Given the description of an element on the screen output the (x, y) to click on. 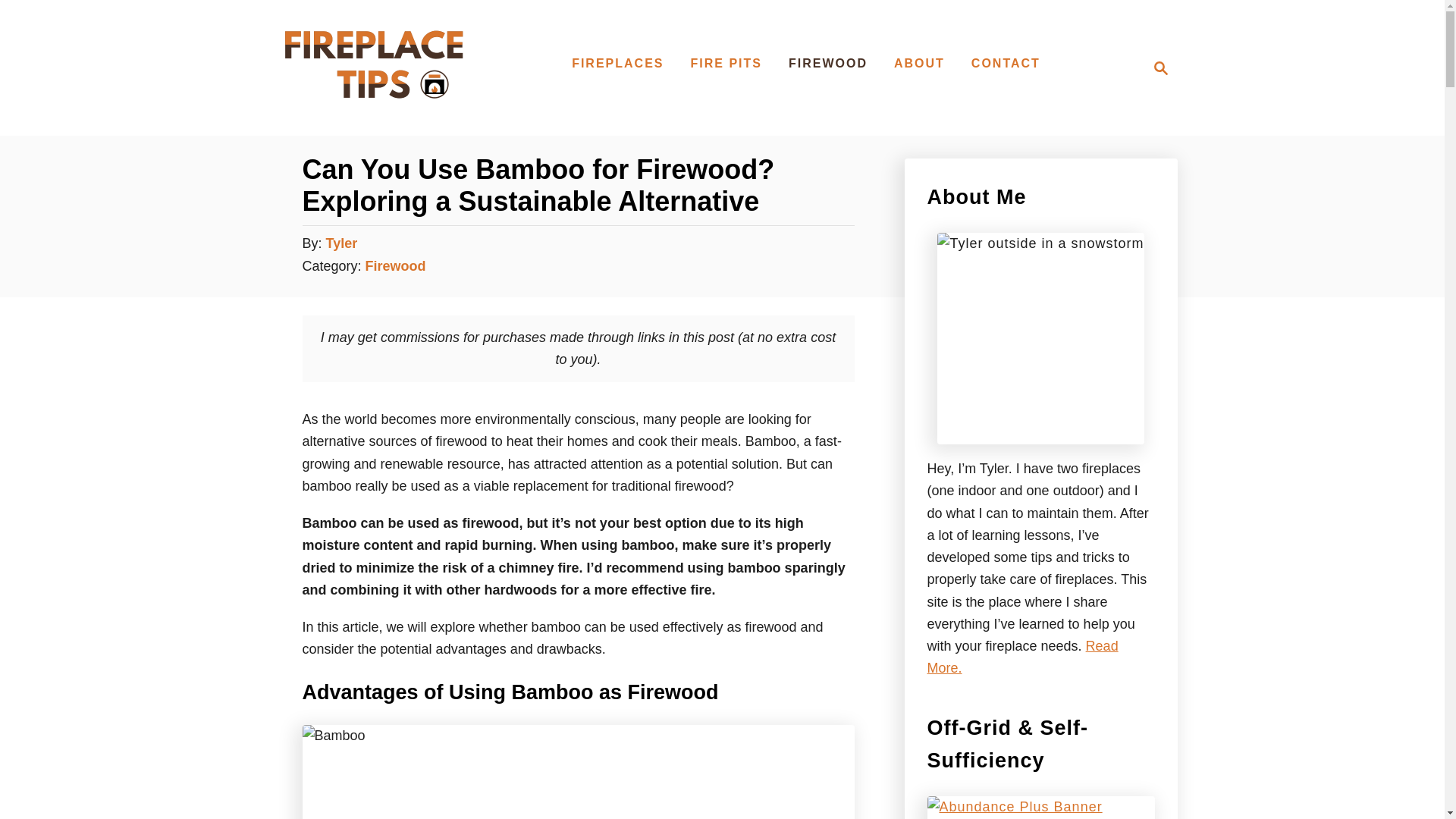
FIREWOOD (827, 63)
Magnifying Glass (1155, 67)
Fireplace Tips (1160, 67)
FIRE PITS (373, 116)
FIREPLACES (725, 63)
ABOUT (617, 63)
Tyler (919, 63)
CONTACT (342, 242)
Firewood (1005, 63)
Read More. (395, 265)
